Given the description of an element on the screen output the (x, y) to click on. 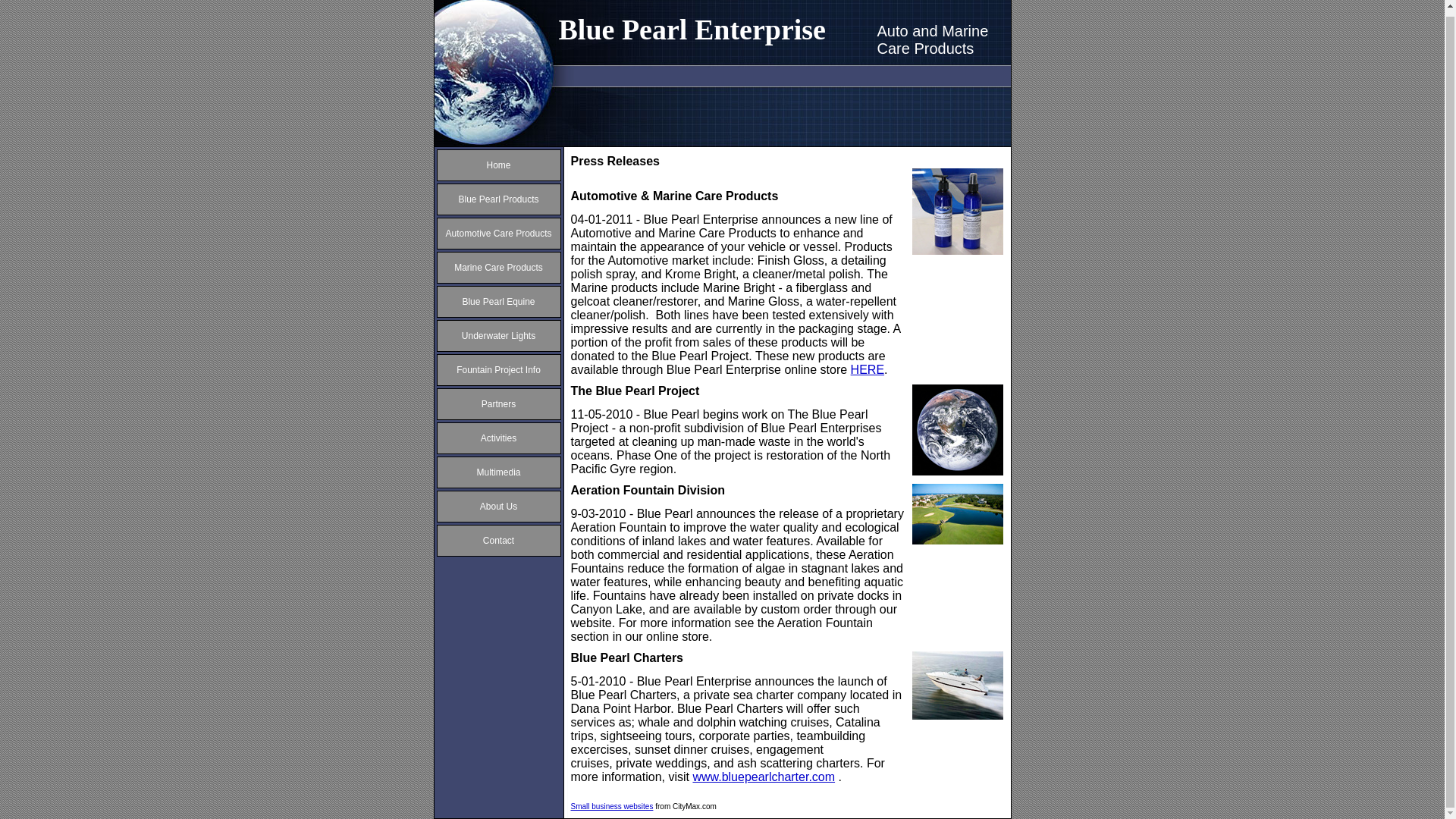
About Us (498, 506)
Blue Pearl Equine (497, 301)
Partners (498, 403)
Home (498, 164)
Fountain Project Info (498, 369)
Blue Pearl Products (498, 199)
Underwater Lights (498, 335)
www.bluepearlcharter.com (763, 776)
Contact (498, 540)
Multimedia (497, 471)
